Given the description of an element on the screen output the (x, y) to click on. 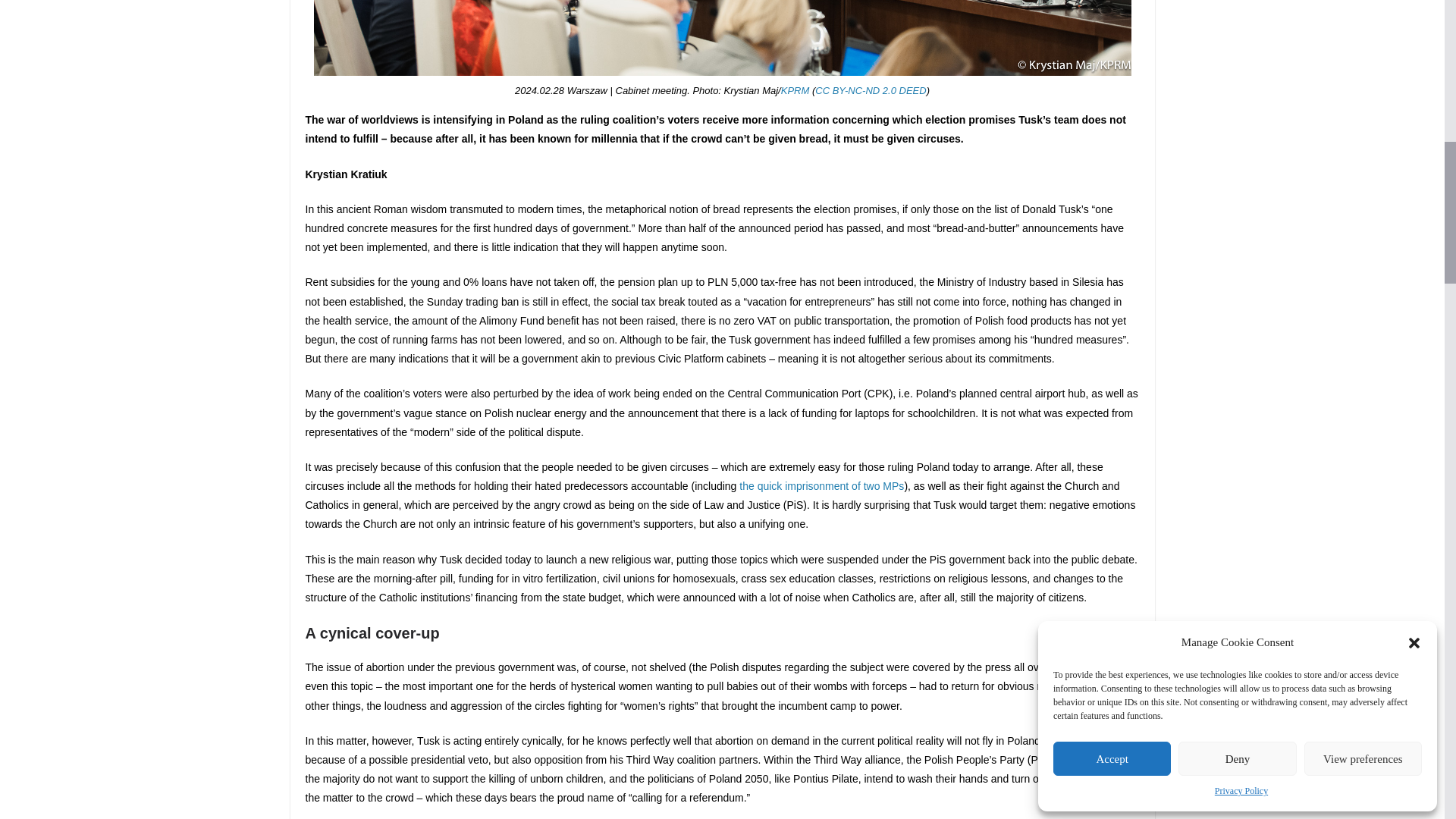
KPRM (794, 90)
CC BY-NC-ND 2.0 DEED (870, 90)
the quick imprisonment of two MPs (821, 485)
